Given the description of an element on the screen output the (x, y) to click on. 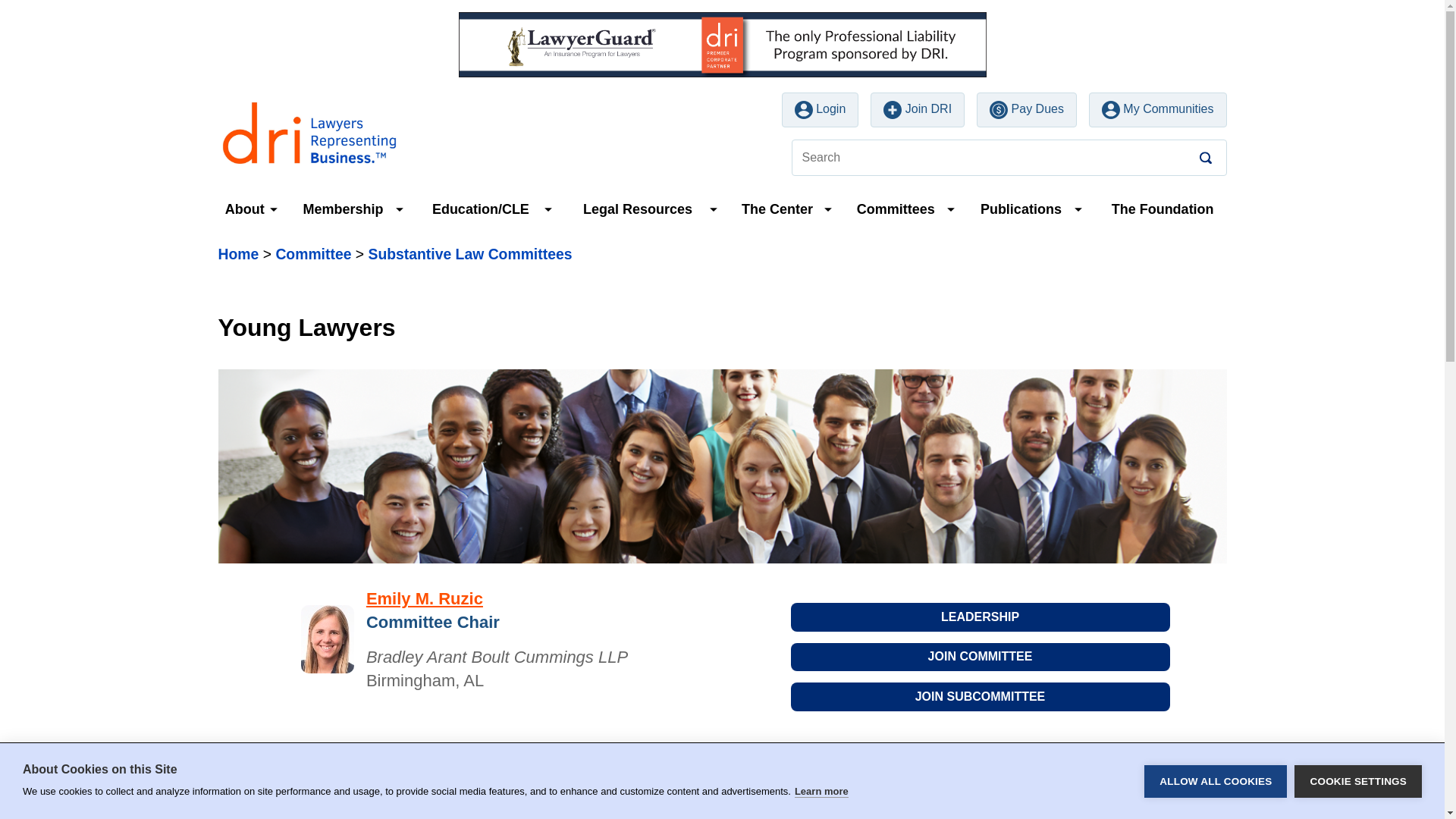
Search input (1009, 157)
Pay Dues (1026, 109)
LawyerGuard and DRI Premier Corporate Partner (721, 44)
Login (820, 109)
About (241, 209)
COOKIE SETTINGS (1358, 807)
Join DRI (916, 109)
Membership (340, 209)
My Communities (1158, 109)
ALLOW ALL COOKIES (1215, 812)
